Given the description of an element on the screen output the (x, y) to click on. 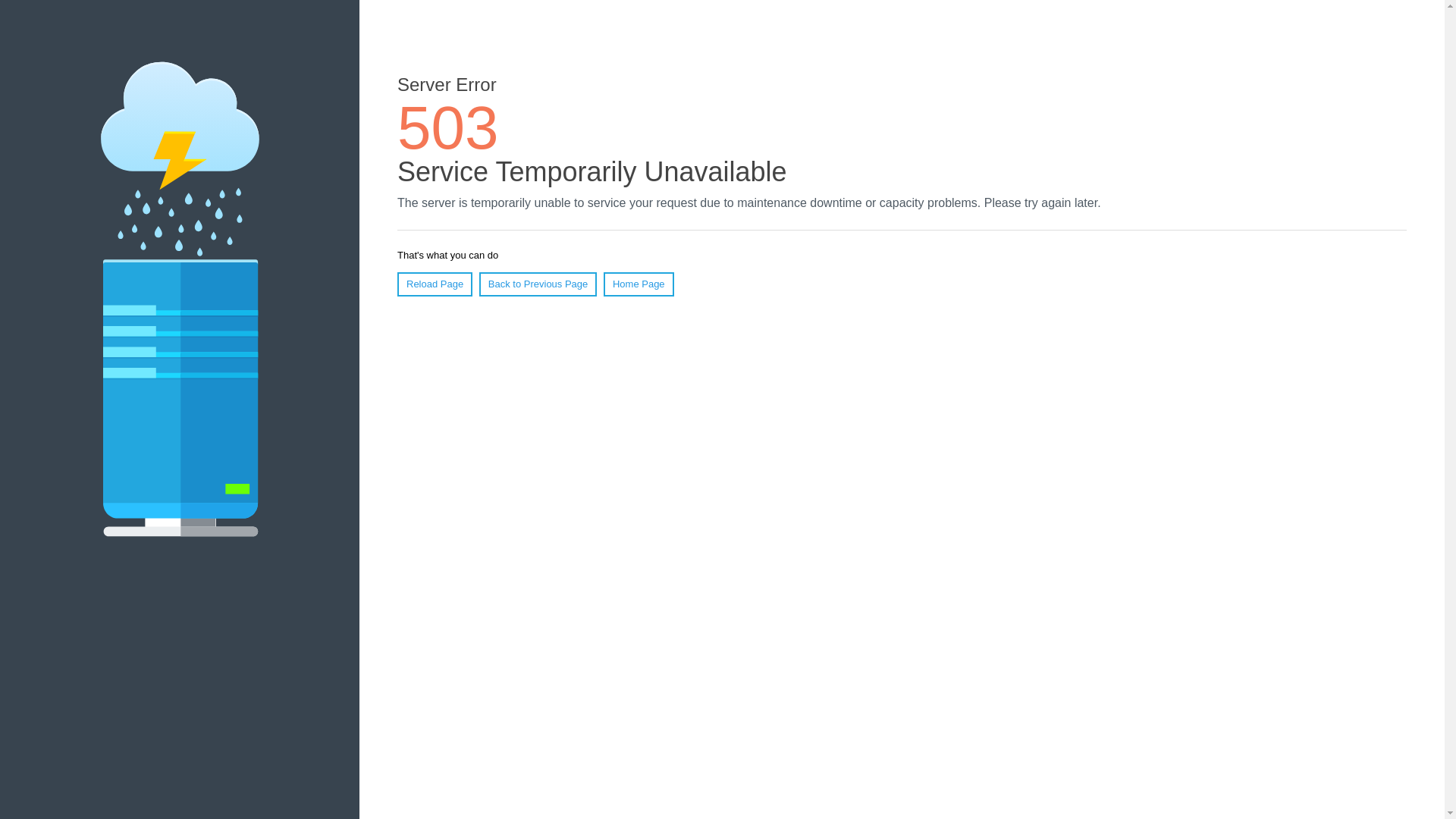
Home Page Element type: text (638, 284)
Back to Previous Page Element type: text (538, 284)
Reload Page Element type: text (434, 284)
